Given the description of an element on the screen output the (x, y) to click on. 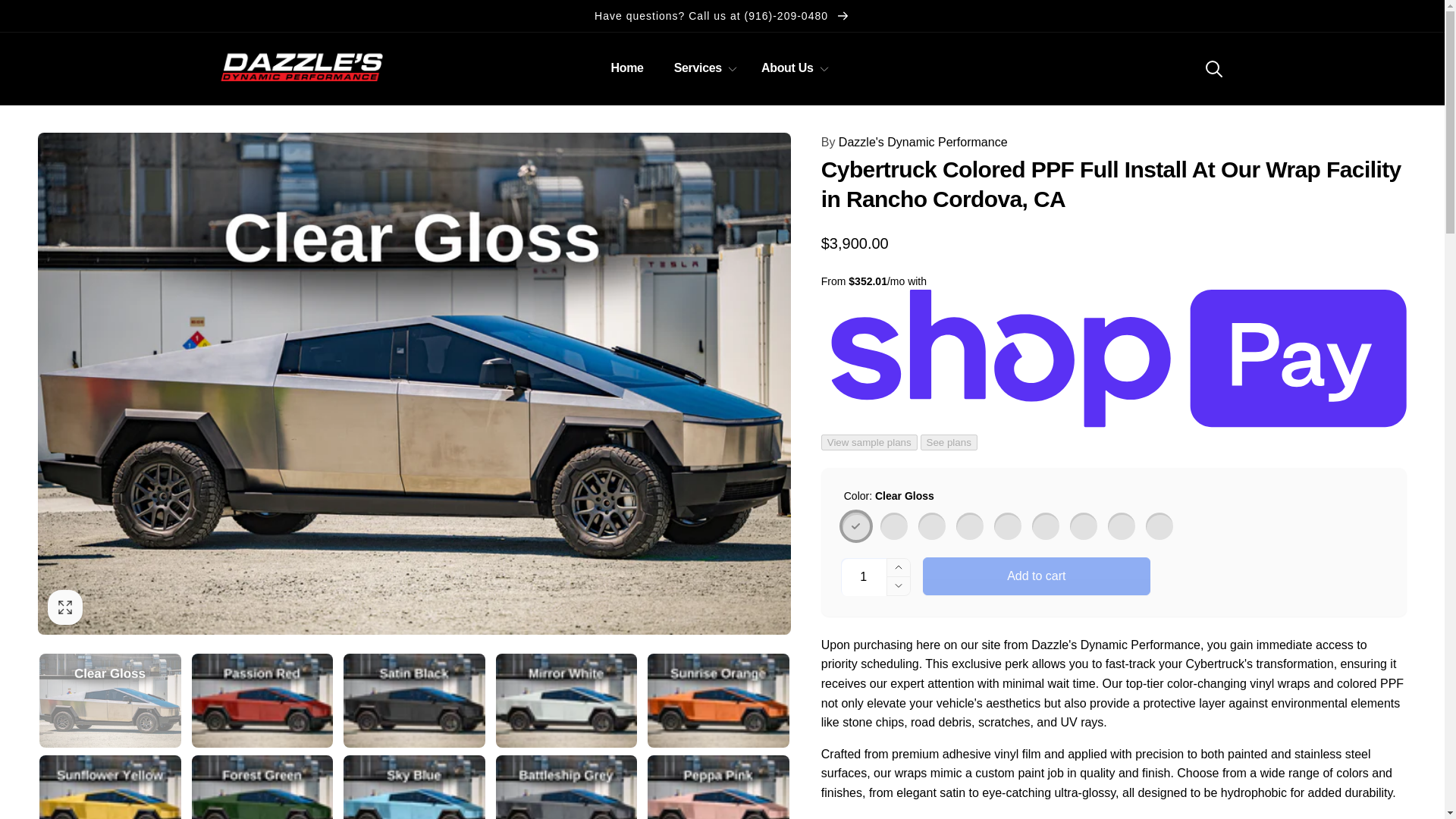
Skip to product information (54, 140)
Home (625, 68)
Skip to content (24, 16)
1 (863, 576)
